Given the description of an element on the screen output the (x, y) to click on. 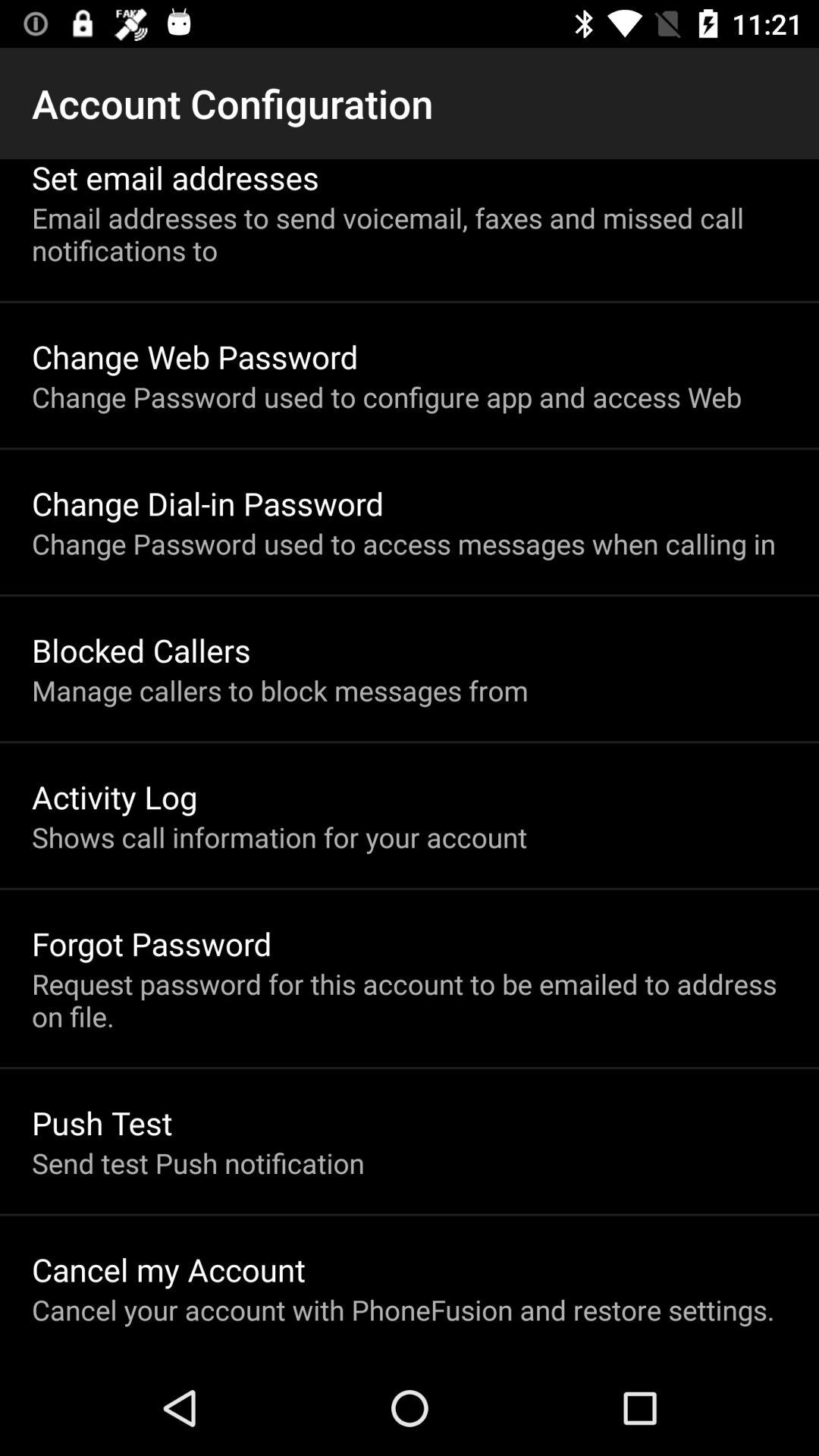
open request password for app (409, 1000)
